Given the description of an element on the screen output the (x, y) to click on. 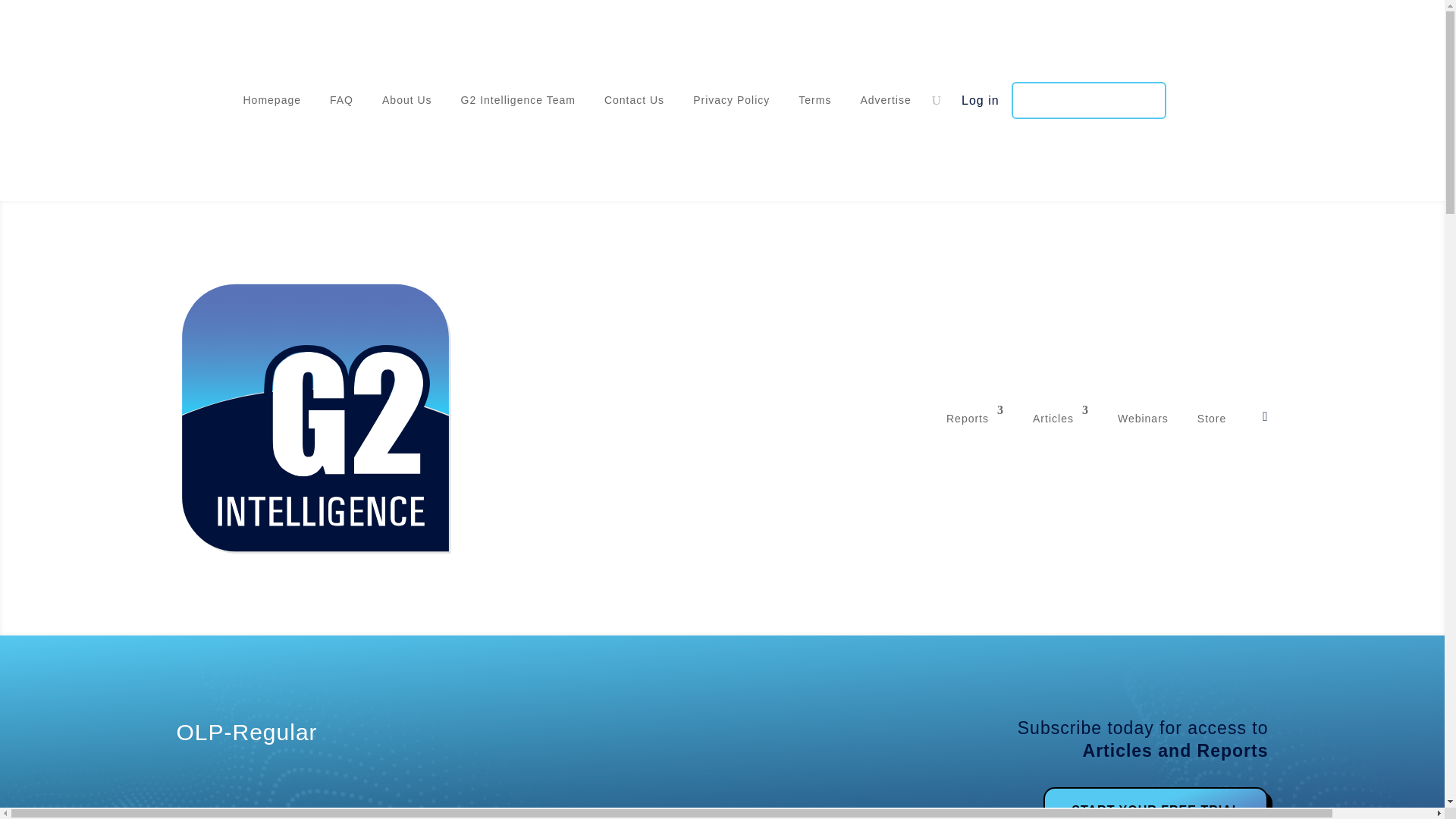
FAQ (341, 104)
Privacy Policy (731, 104)
START YOUR FREE TRIAL (1155, 803)
Advertise (885, 104)
Follow on X (188, 97)
About Us (406, 104)
Start free trial (1088, 99)
G2 Intelligence Team (518, 104)
Terms (814, 104)
Follow on LinkedIn (218, 97)
